Given the description of an element on the screen output the (x, y) to click on. 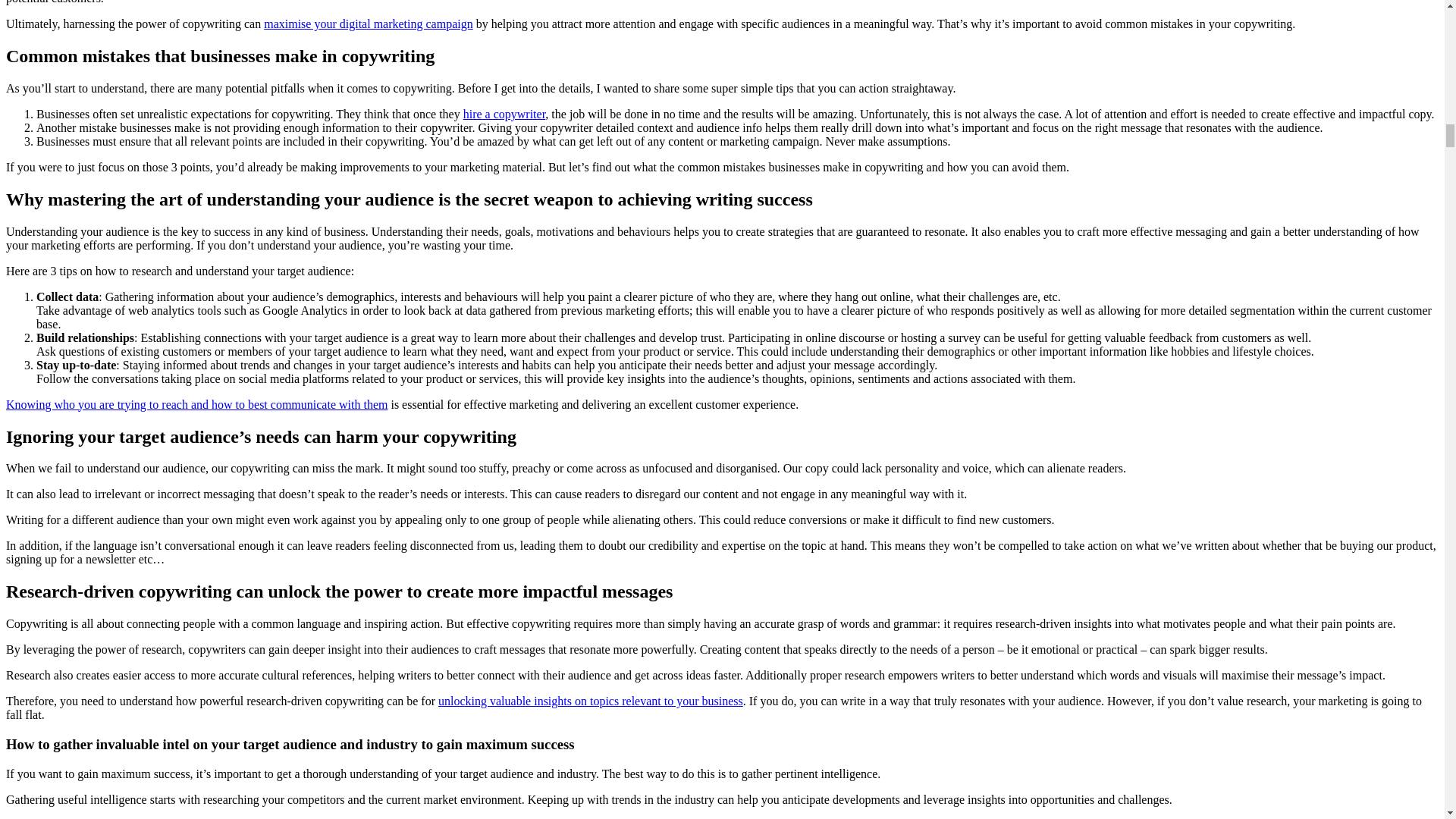
maximise your digital marketing campaign (367, 23)
hire a copywriter (504, 113)
